Given the description of an element on the screen output the (x, y) to click on. 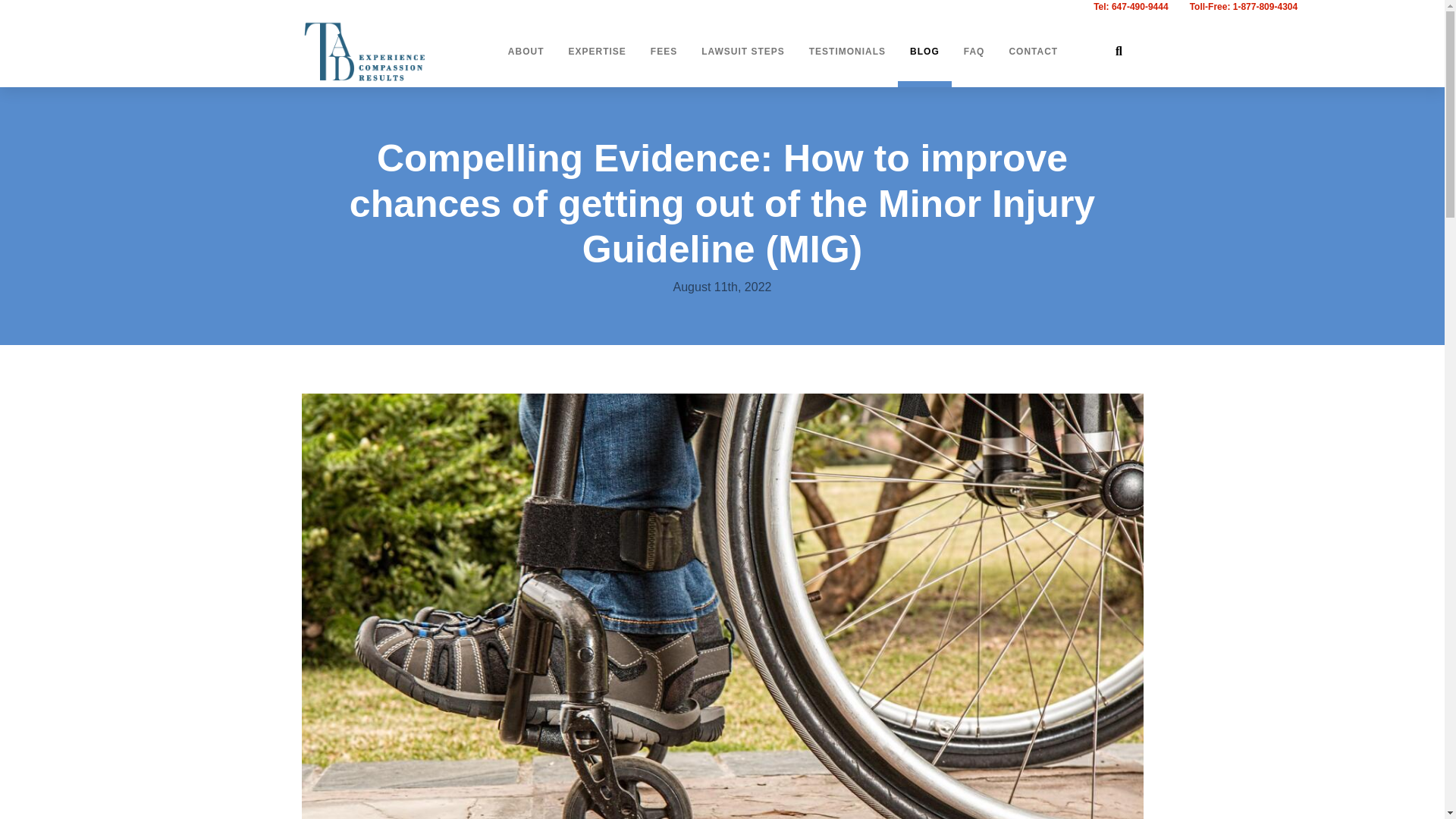
Toll-Free: 1-877-809-4304 (1243, 6)
Tad Law Personal Injury Lawyer (386, 50)
CONTACT (1032, 50)
Tel: 647-490-9444 (1131, 6)
EXPERTISE (597, 50)
LAWSUIT STEPS (742, 50)
TESTIMONIALS (847, 50)
